Given the description of an element on the screen output the (x, y) to click on. 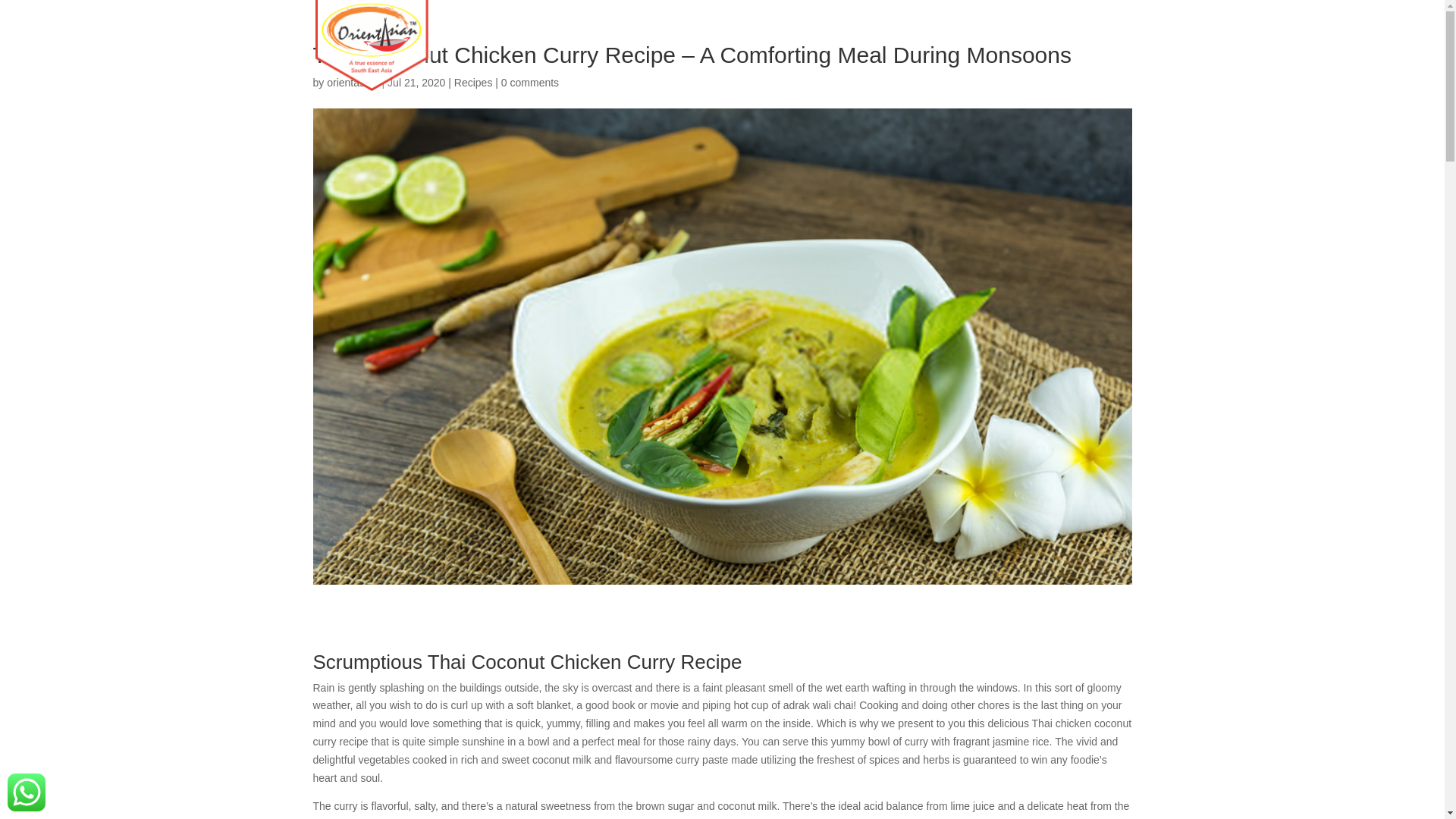
Blogs (1045, 42)
Products (851, 42)
Posts by orientasian (352, 82)
orientasian (352, 82)
Recipes (924, 42)
Recipes (473, 82)
About Us (774, 42)
0 comments (529, 82)
Stores (987, 42)
Contact (1106, 42)
